Given the description of an element on the screen output the (x, y) to click on. 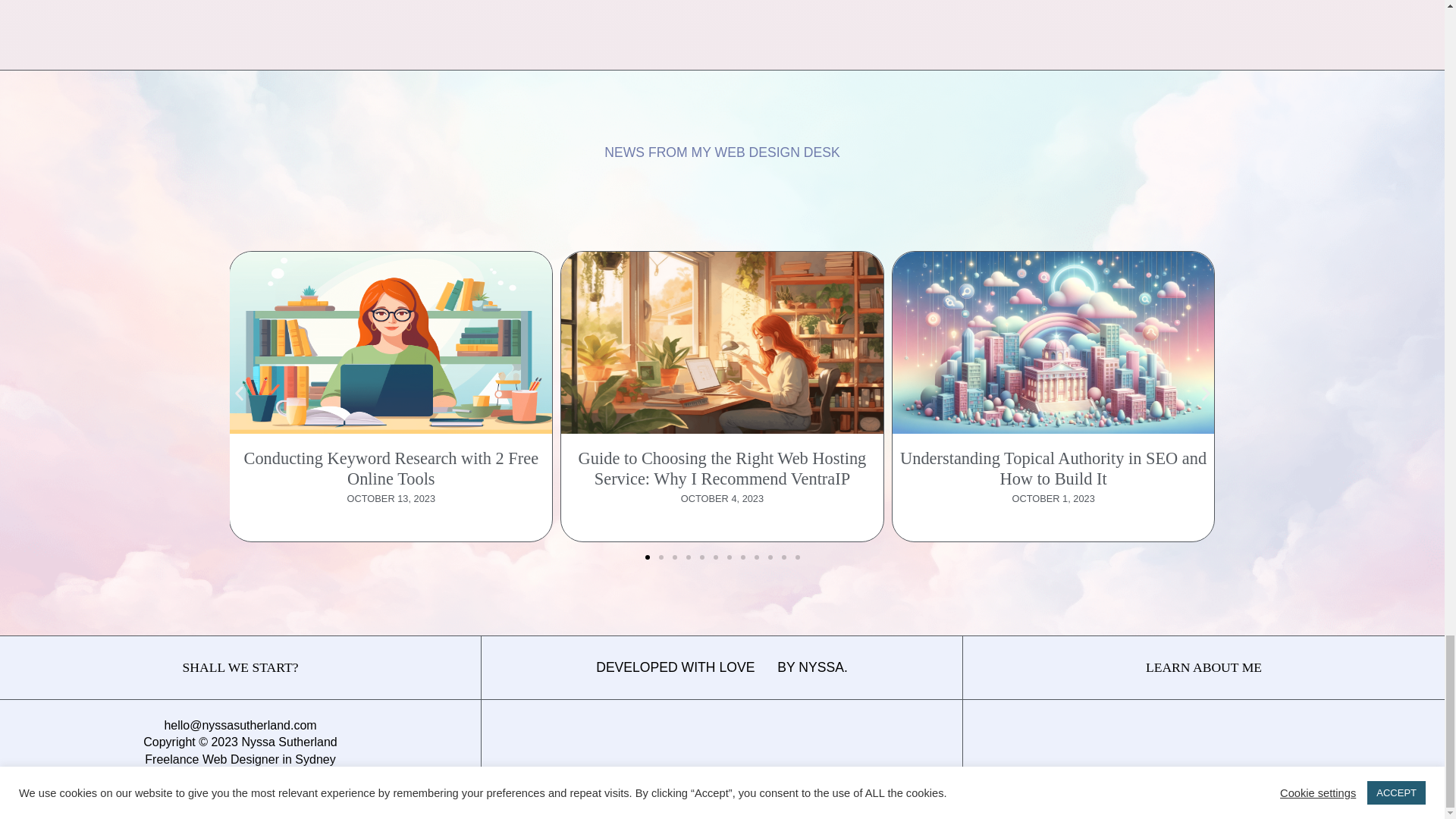
Understanding Topical Authority in SEO and How to Build It (1053, 468)
Conducting Keyword Research with 2 Free Online Tools (390, 468)
